Given the description of an element on the screen output the (x, y) to click on. 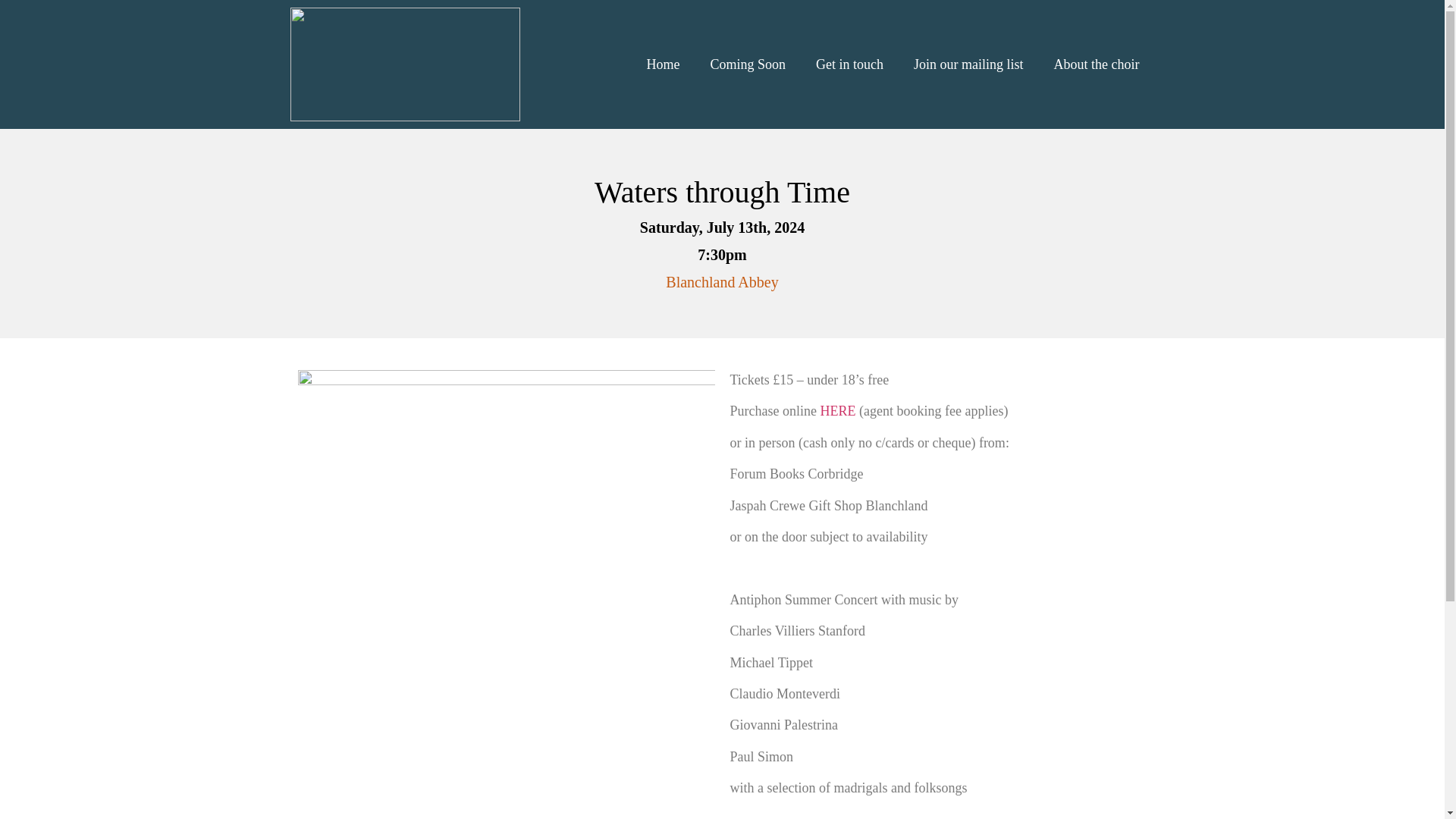
Get in touch (849, 63)
About the choir (1096, 63)
HERE (837, 410)
Coming Soon (747, 63)
Join our mailing list (968, 63)
Home (662, 63)
